Given the description of an element on the screen output the (x, y) to click on. 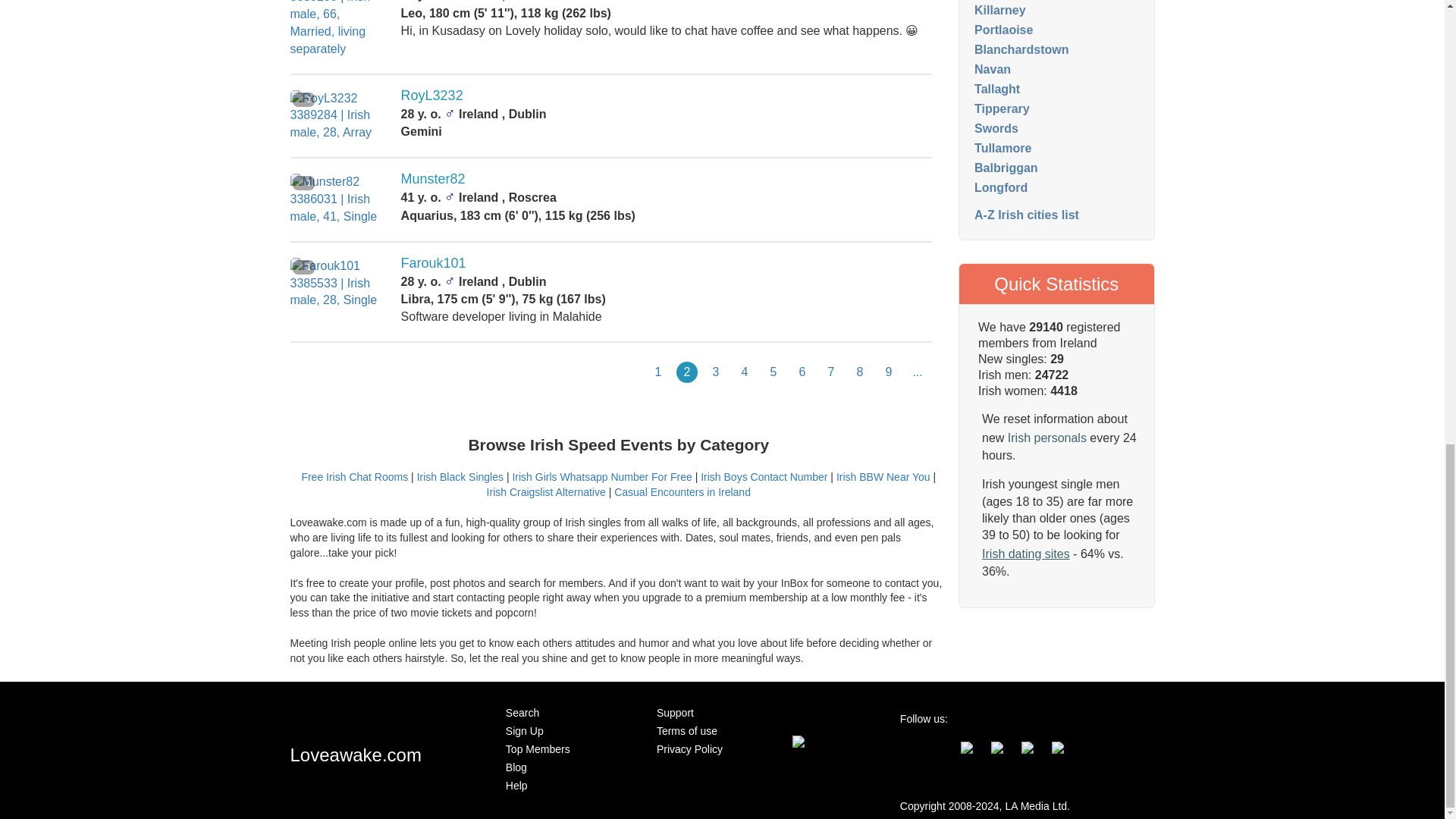
Munster82 (433, 178)
RoyL3232 (432, 95)
Farouk101 (433, 263)
